Given the description of an element on the screen output the (x, y) to click on. 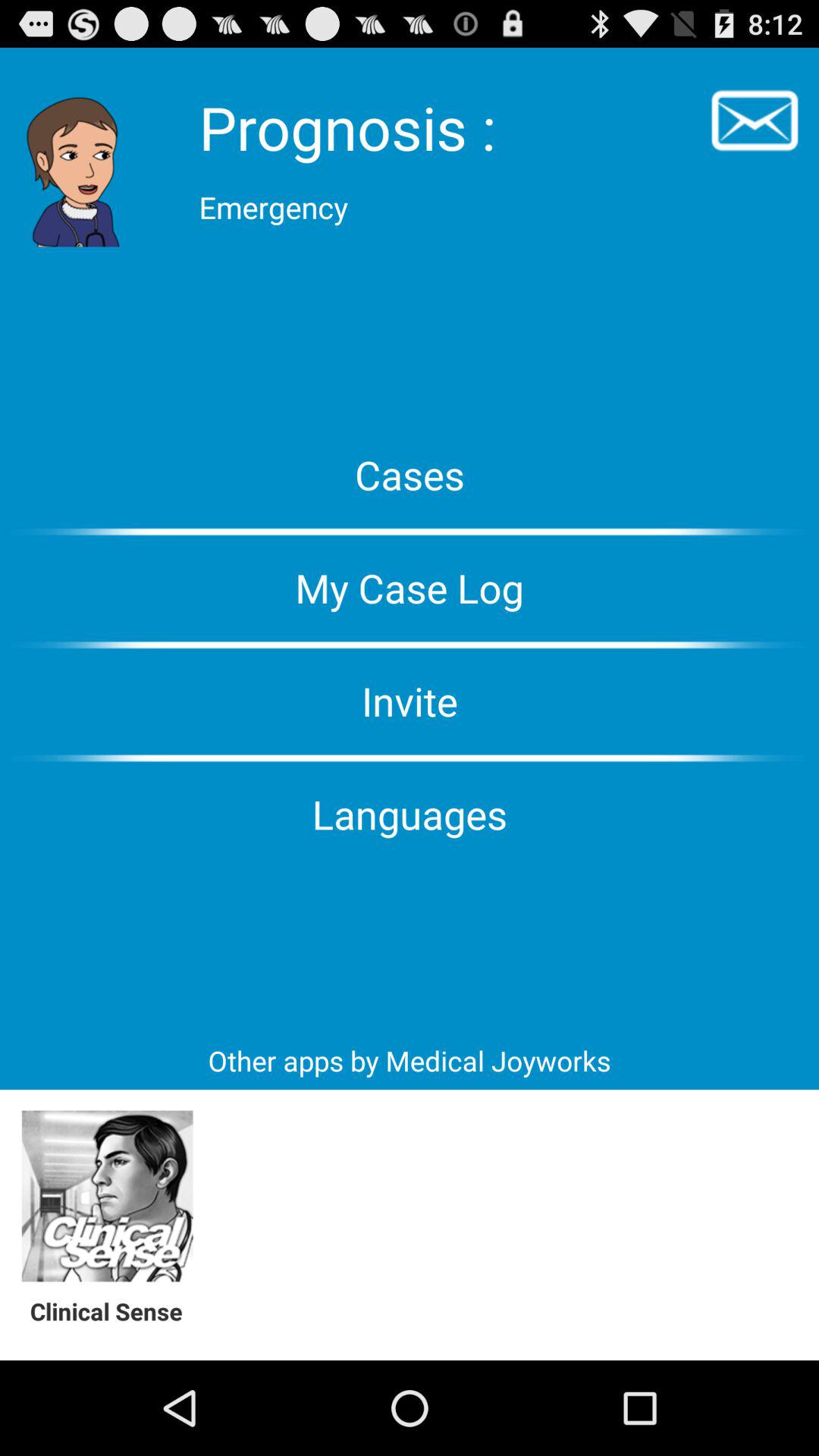
turn on the invite item (409, 700)
